Given the description of an element on the screen output the (x, y) to click on. 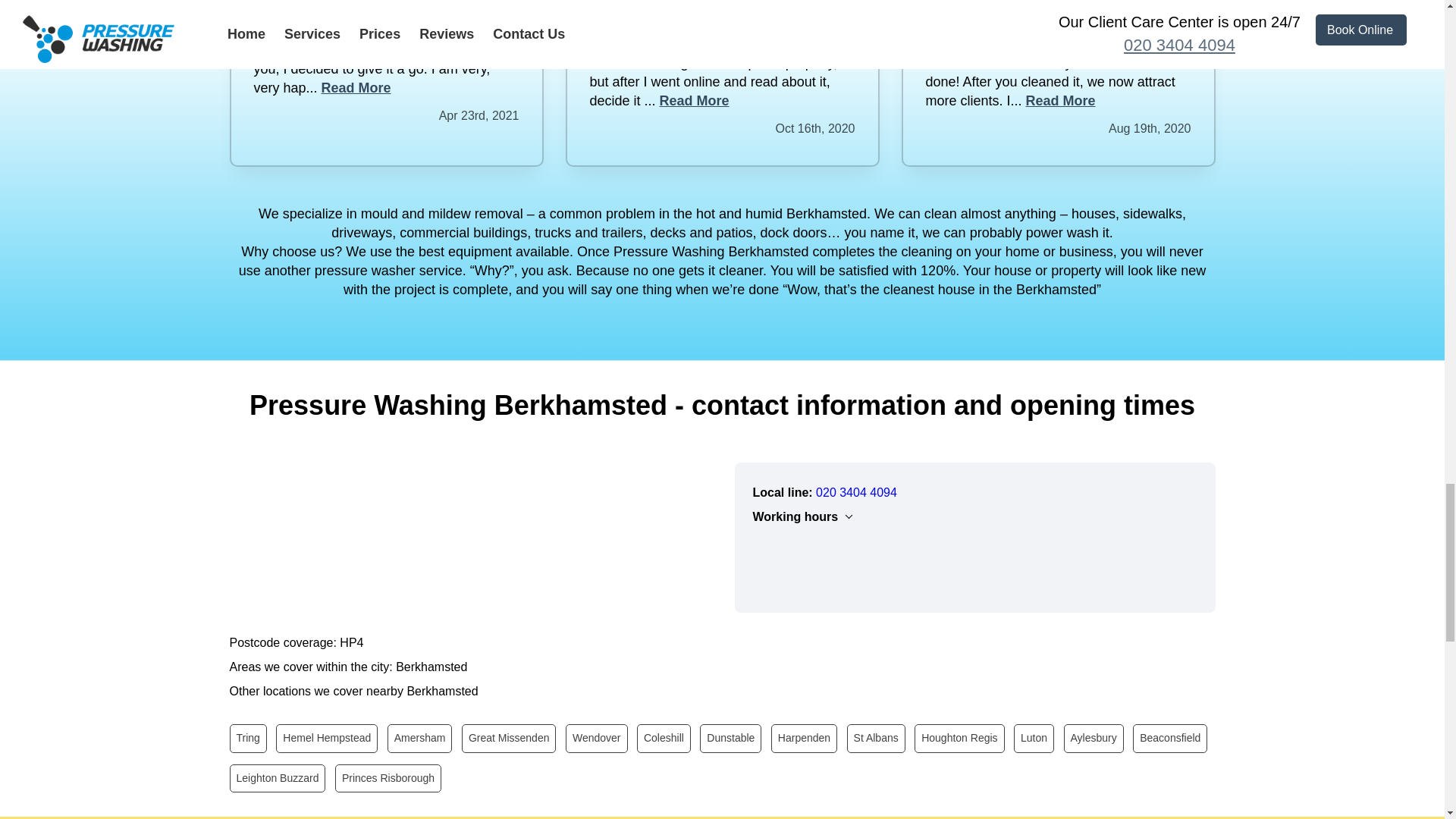
Coleshill (663, 737)
Hemel Hempstead (326, 737)
Hemel Hempstead (326, 737)
Amersham (419, 737)
020 3404 4094 (855, 492)
Berkhamsted map location (469, 536)
Houghton Regis (959, 737)
Dunstable (730, 737)
Wendover (596, 737)
Luton (1033, 737)
